Given the description of an element on the screen output the (x, y) to click on. 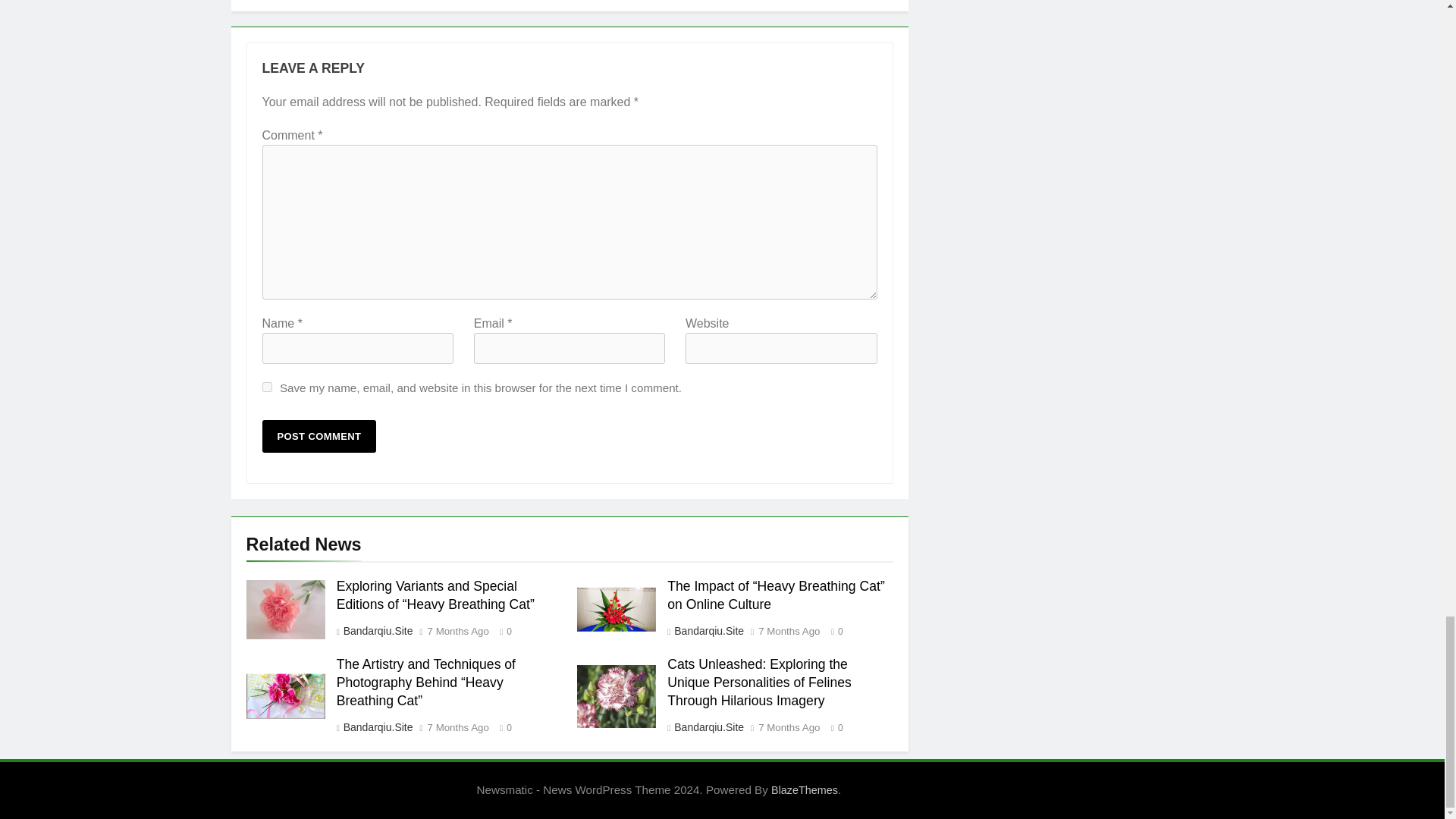
yes (267, 387)
Post Comment (319, 436)
